Given the description of an element on the screen output the (x, y) to click on. 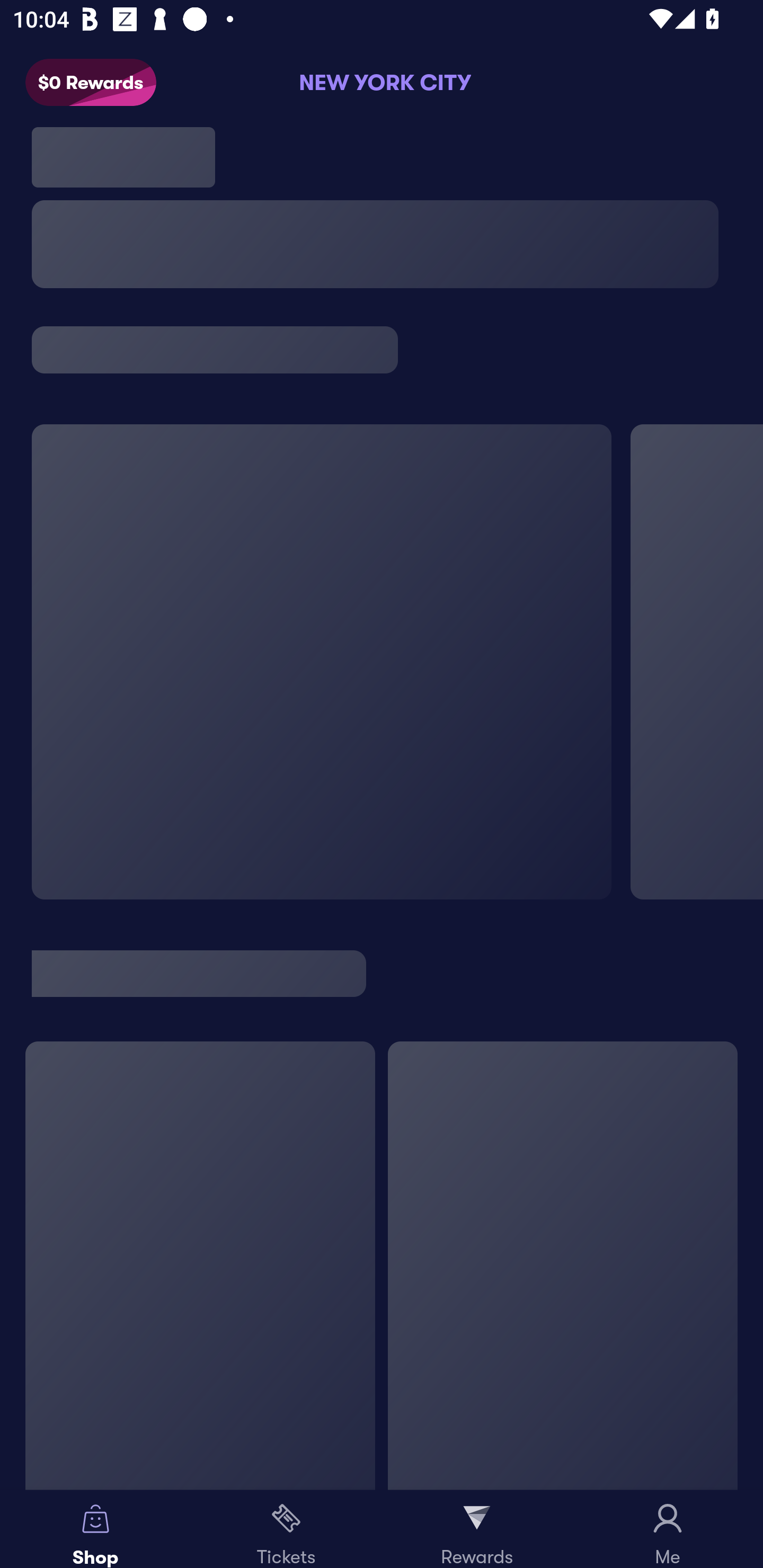
$0 Rewards (90, 82)
NEW YORK CITY (381, 81)
Shop (95, 1529)
Tickets (285, 1529)
Rewards (476, 1529)
Me (667, 1529)
